Given the description of an element on the screen output the (x, y) to click on. 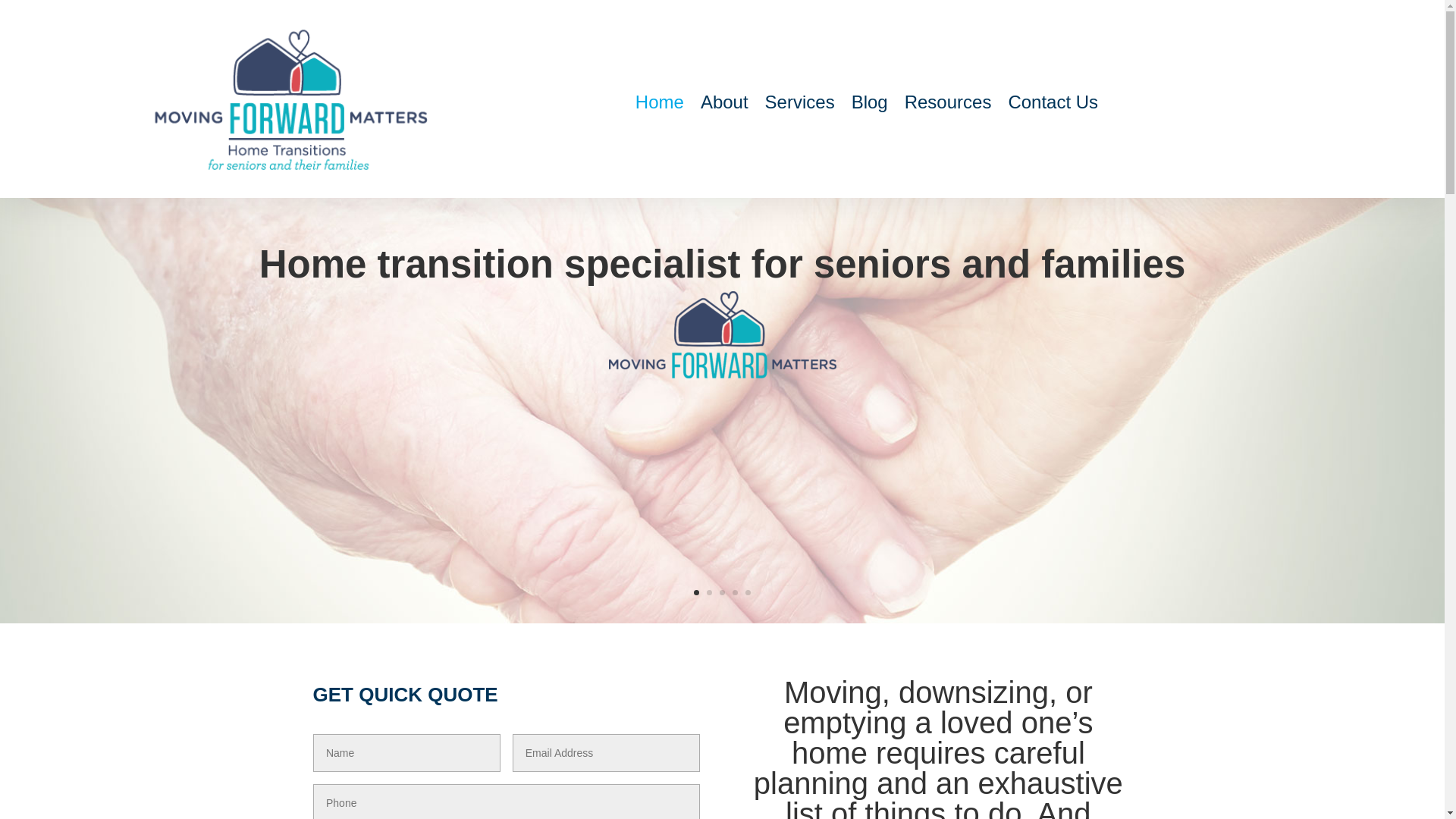
Home (659, 105)
2 (708, 592)
Resources (947, 105)
Blog (869, 105)
Only numbers allowed. (506, 801)
3 (722, 592)
Contact Us (1052, 105)
5 (748, 592)
4 (735, 592)
